Given the description of an element on the screen output the (x, y) to click on. 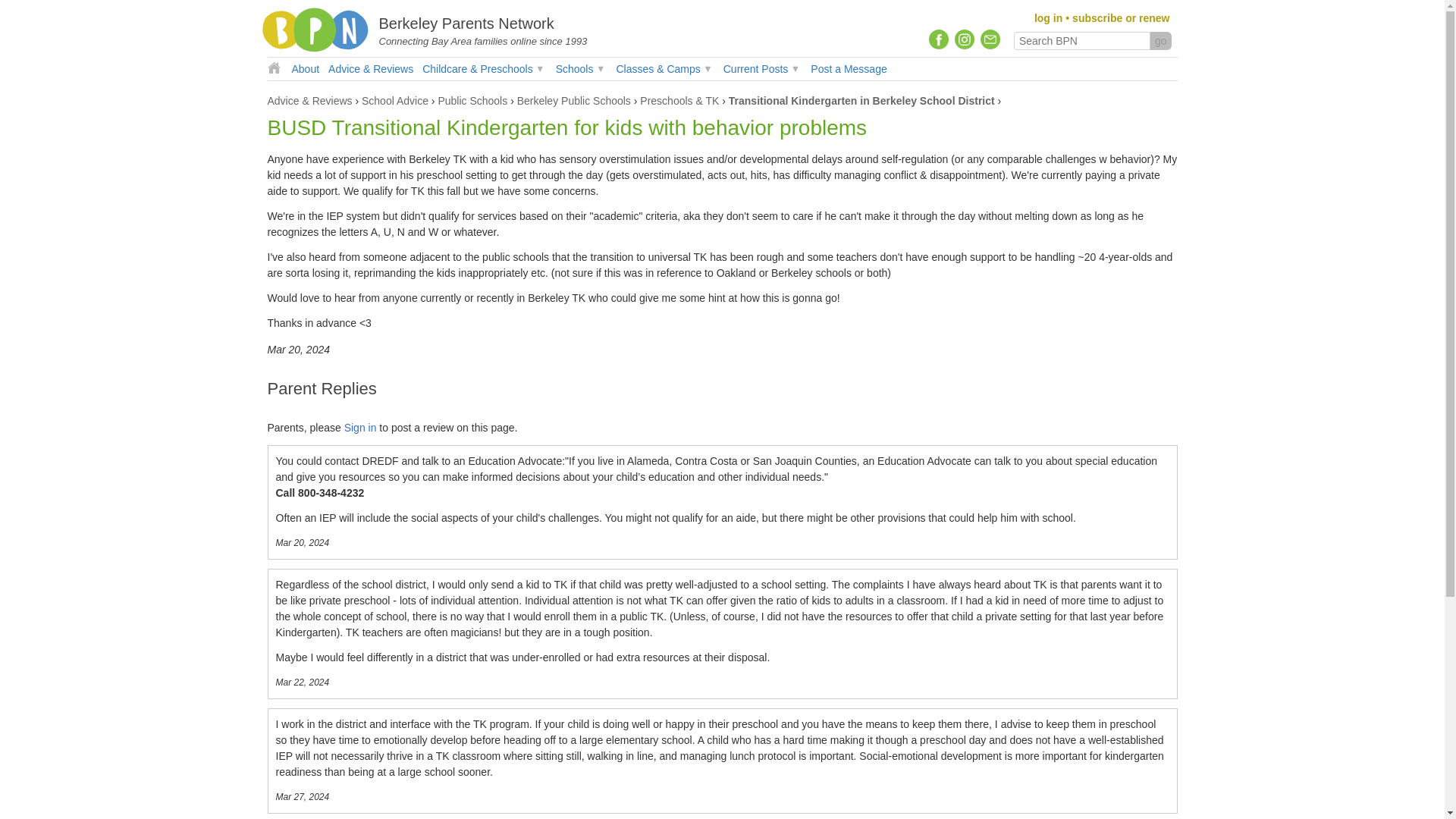
Follow us on Instagram (964, 39)
Contact us (988, 39)
About (304, 68)
Follow us on Facebook (938, 39)
An archive of parents discussions on BPN (371, 68)
Go (1161, 40)
subscribe or renew (1120, 18)
Enter the terms you wish to search for. (1081, 40)
Go (1161, 40)
Berkeley Parents Network (466, 23)
log in (1047, 18)
